Given the description of an element on the screen output the (x, y) to click on. 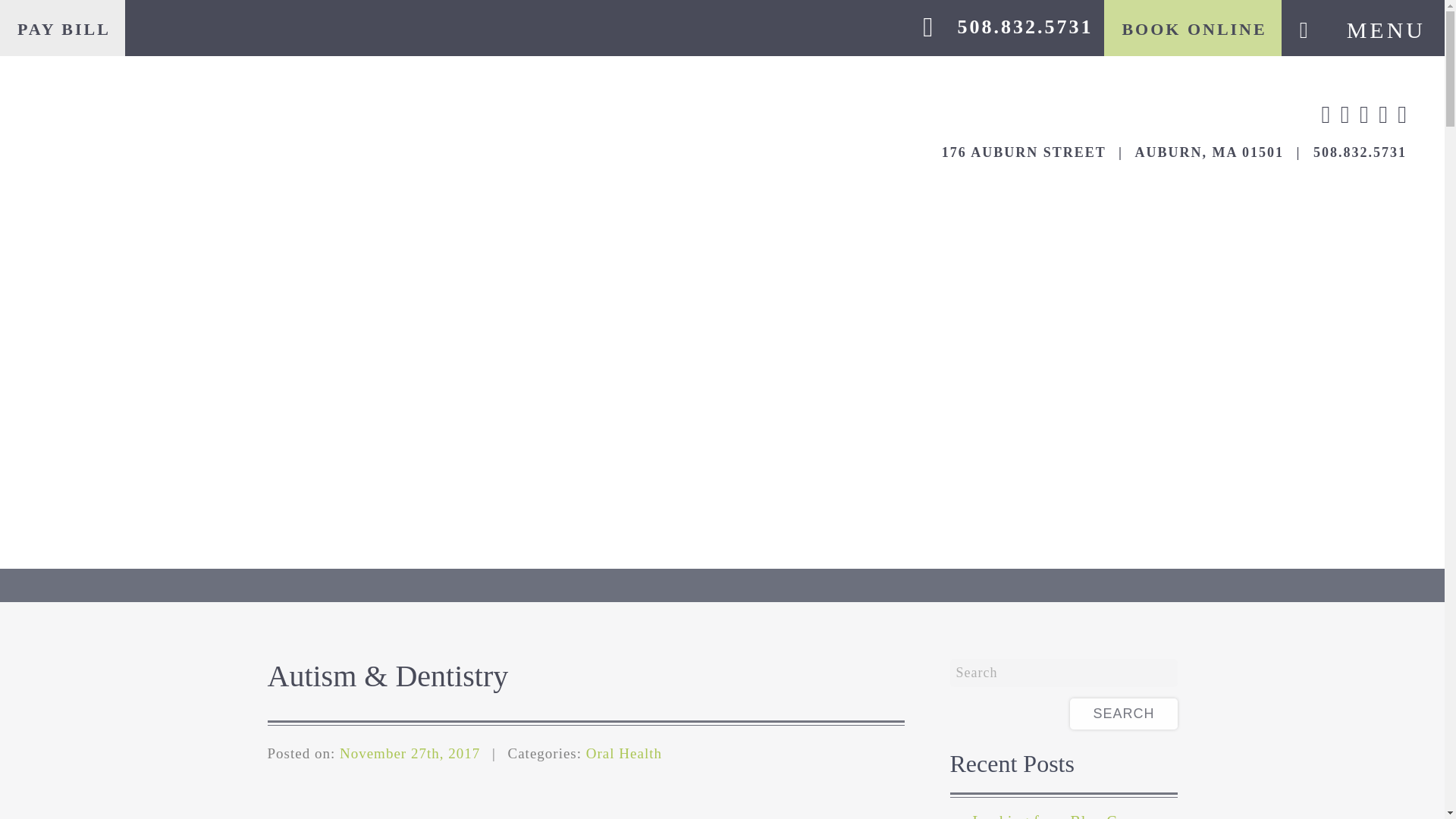
Search (1062, 673)
November 27th, 2017 (409, 753)
508.832.5731 (1024, 26)
BOOK ONLINE (1192, 29)
PAY BILL (62, 29)
Search (1123, 713)
Search (1123, 713)
Oral Health (624, 753)
